Given the description of an element on the screen output the (x, y) to click on. 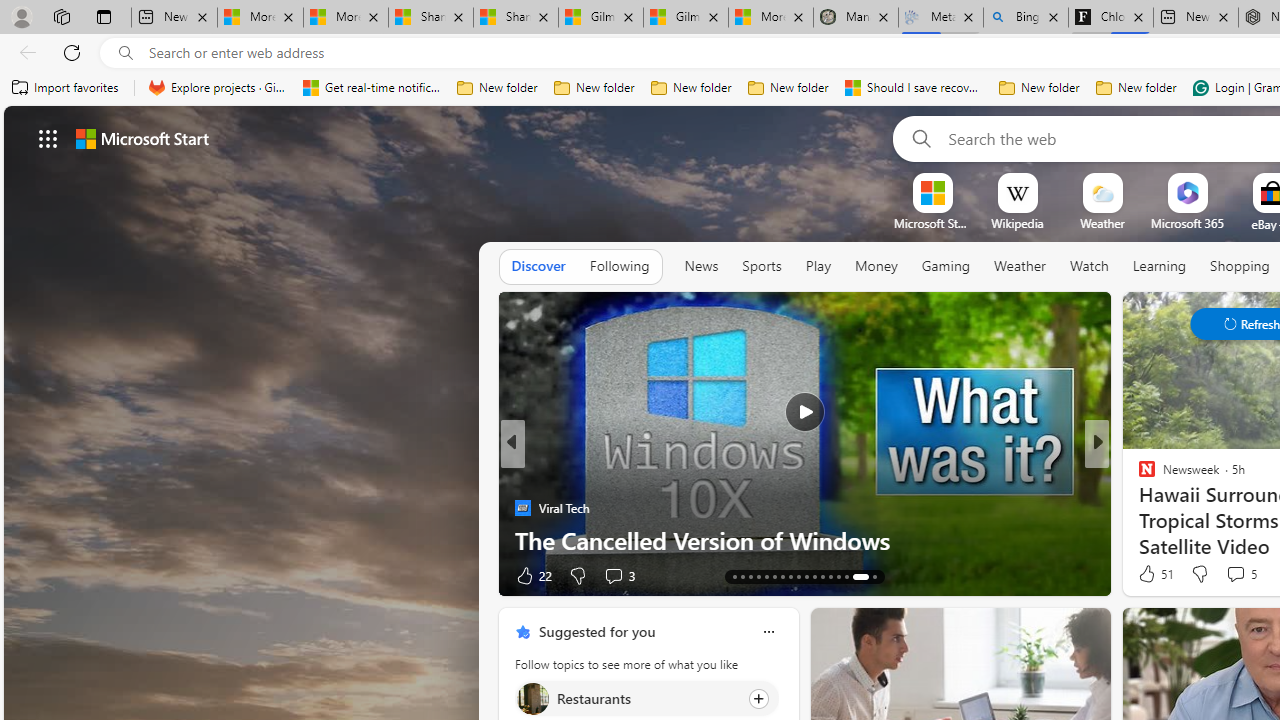
The Cancelled Version of Windows (804, 539)
View comments 3 Comment (618, 574)
Planning to Organize (1138, 475)
Microsoft start (142, 138)
Play (817, 265)
AutomationID: tab-33 (874, 576)
More Options (1219, 179)
AutomationID: tab-27 (814, 576)
View comments 1 Comment (11, 575)
AutomationID: tab-23 (782, 576)
Suggested for you (596, 631)
